Given the description of an element on the screen output the (x, y) to click on. 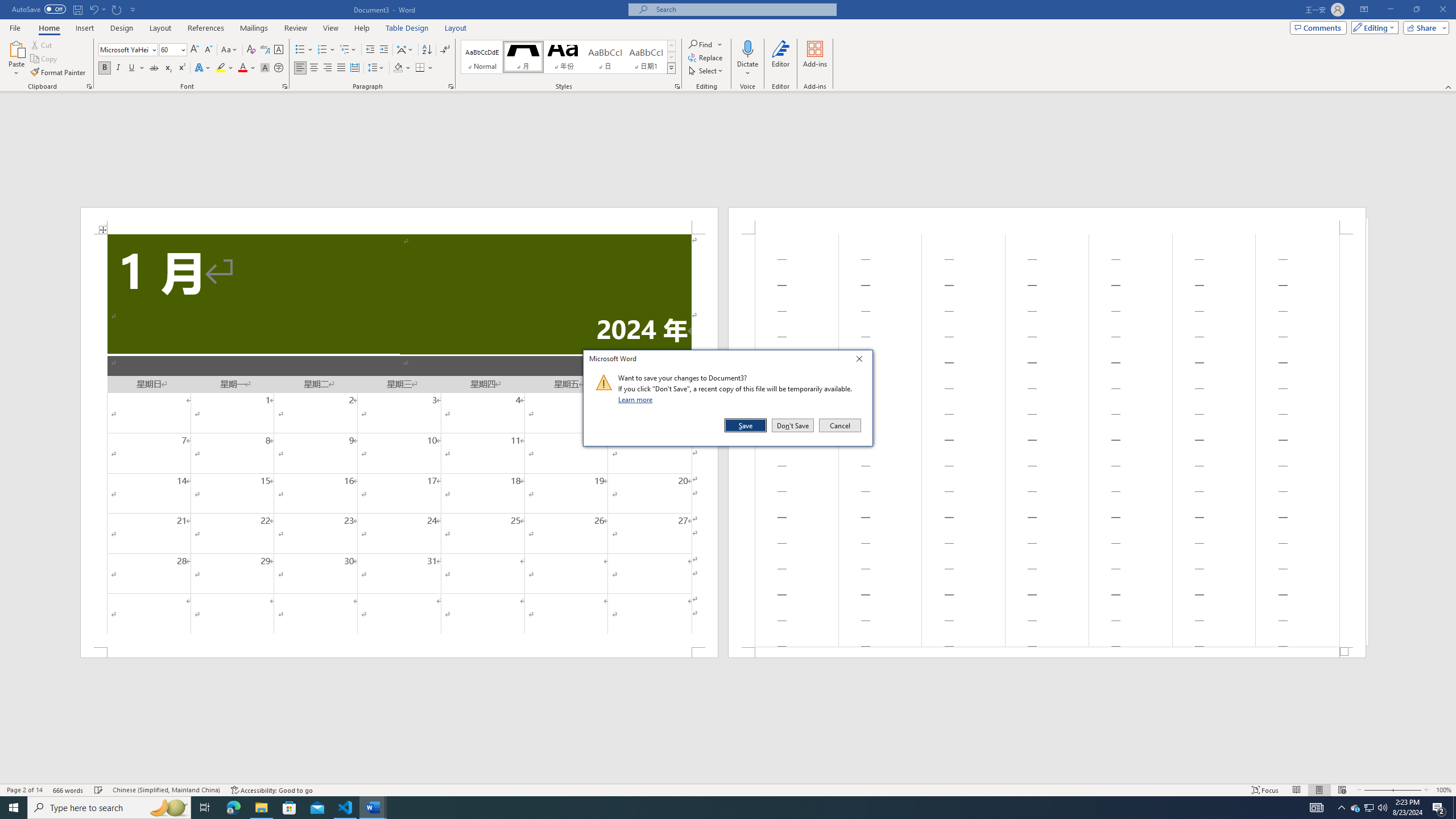
Font Color RGB(255, 0, 0) (241, 67)
Microsoft Edge (233, 807)
Repeat Style (117, 9)
